Given the description of an element on the screen output the (x, y) to click on. 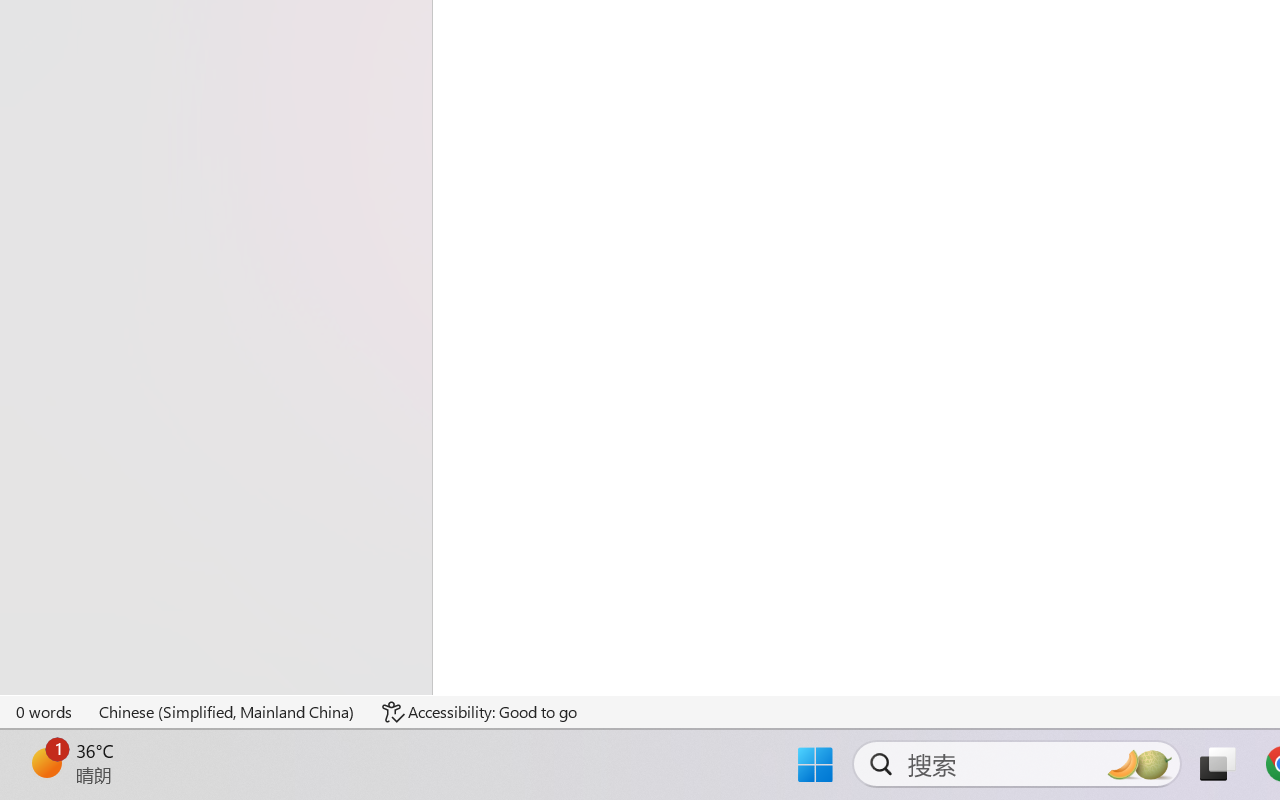
Language Chinese (Simplified, Mainland China) (227, 712)
